Given the description of an element on the screen output the (x, y) to click on. 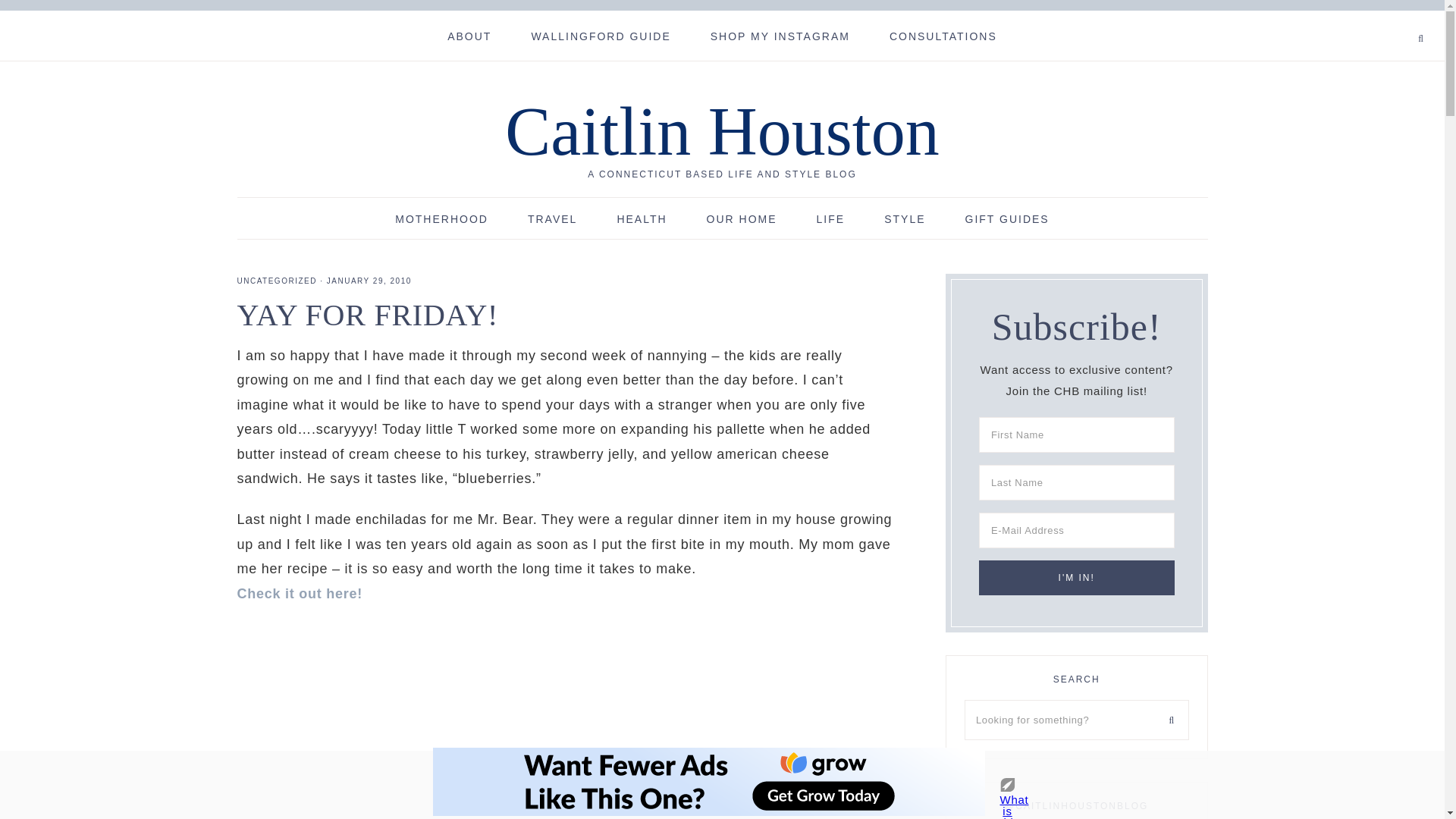
UNCATEGORIZED (275, 280)
Caitlin Houston (722, 131)
LIFE (830, 218)
TRAVEL (552, 218)
HEALTH (640, 218)
I'm in! (1076, 577)
GIFT GUIDES (1006, 218)
MOTHERHOOD (441, 218)
STYLE (904, 218)
Check it out here! (298, 593)
OUR HOME (741, 218)
ABOUT (469, 34)
CONSULTATIONS (942, 34)
SHOP MY INSTAGRAM (779, 34)
WALLINGFORD GUIDE (600, 34)
